Given the description of an element on the screen output the (x, y) to click on. 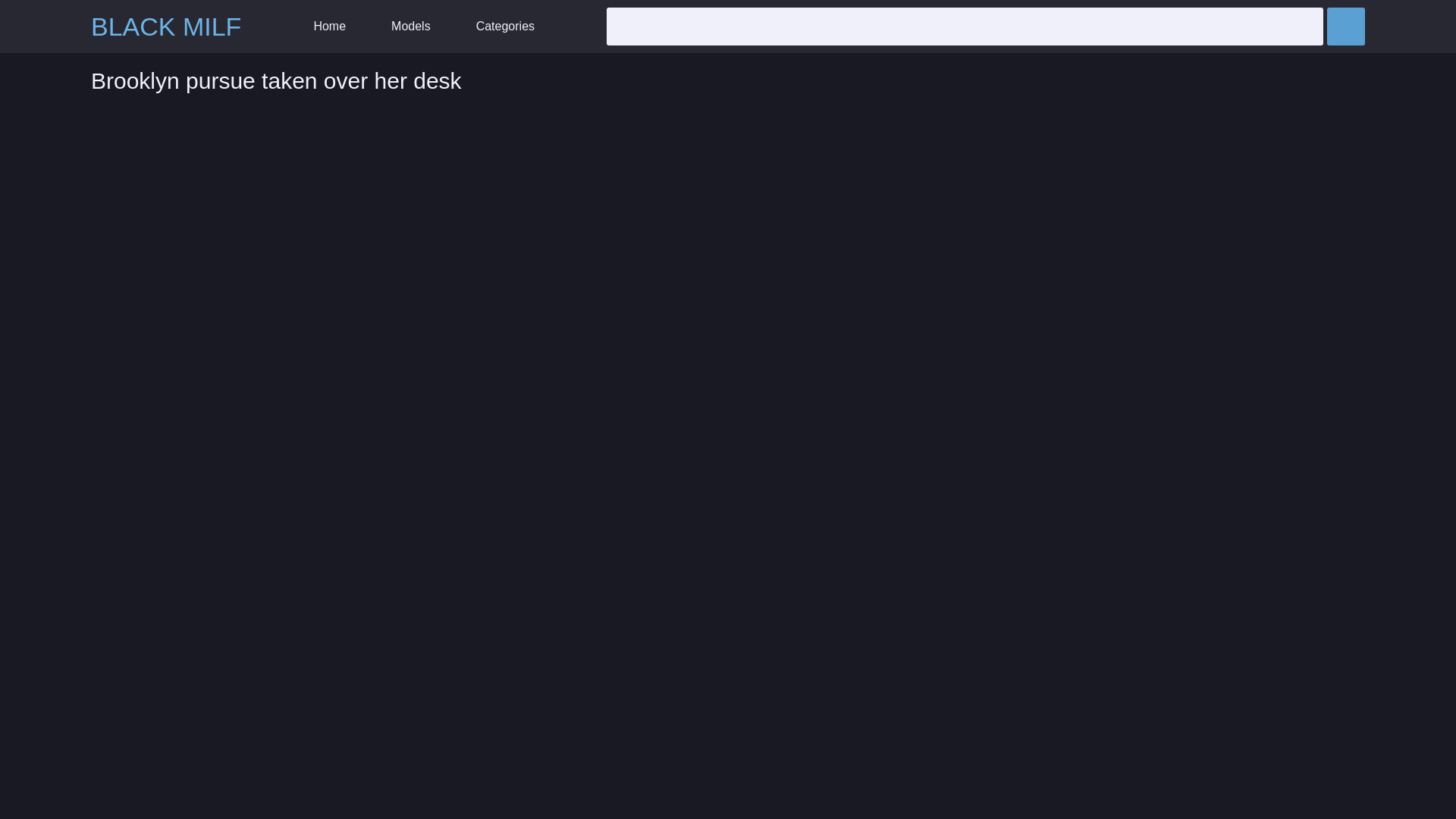
Home (328, 26)
Categories (505, 26)
BLACK MILF (165, 26)
Search (1345, 26)
Models (411, 26)
